Given the description of an element on the screen output the (x, y) to click on. 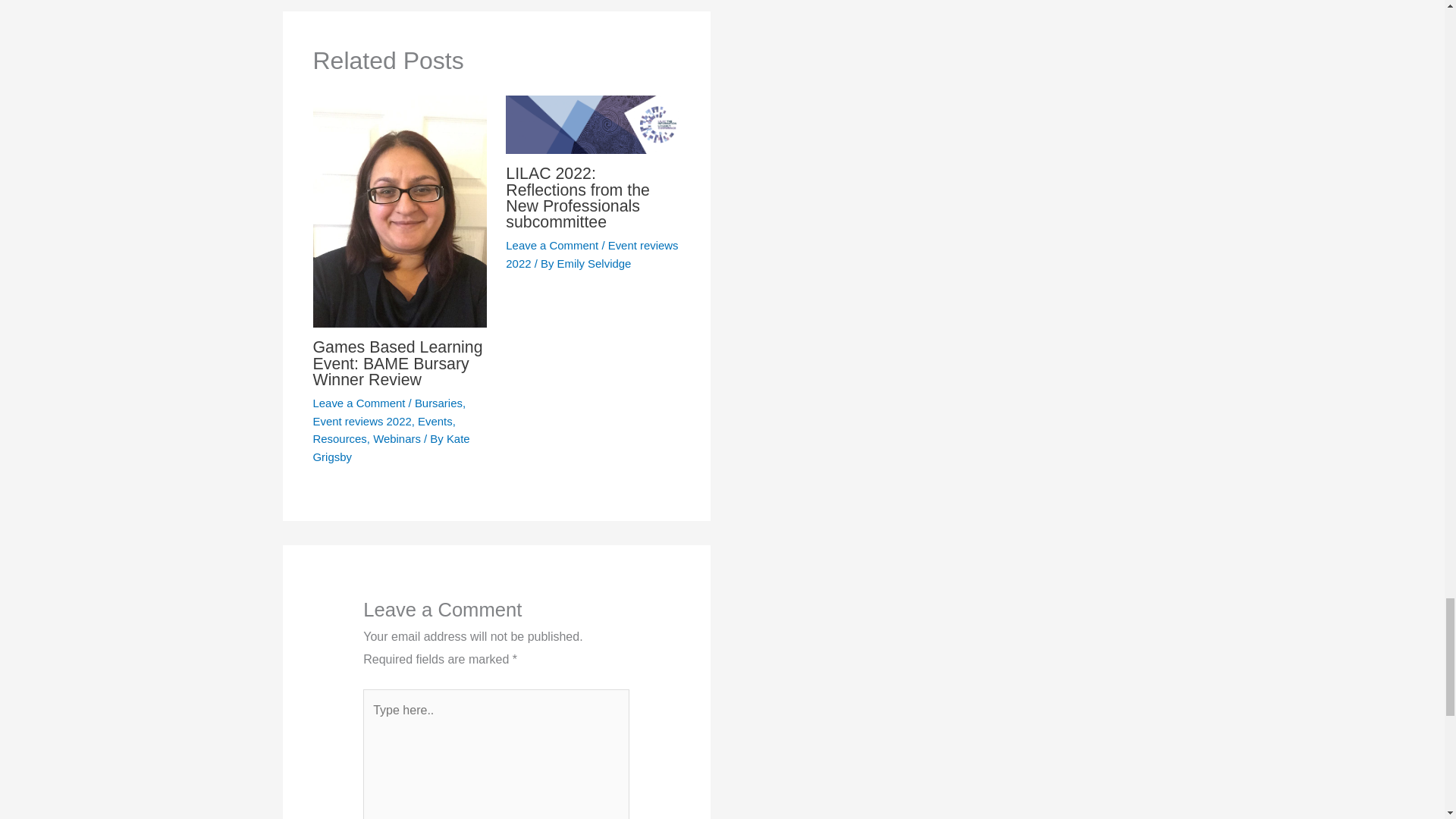
View all posts by Kate Grigsby (390, 447)
View all posts by Emily Selvidge (593, 263)
